Given the description of an element on the screen output the (x, y) to click on. 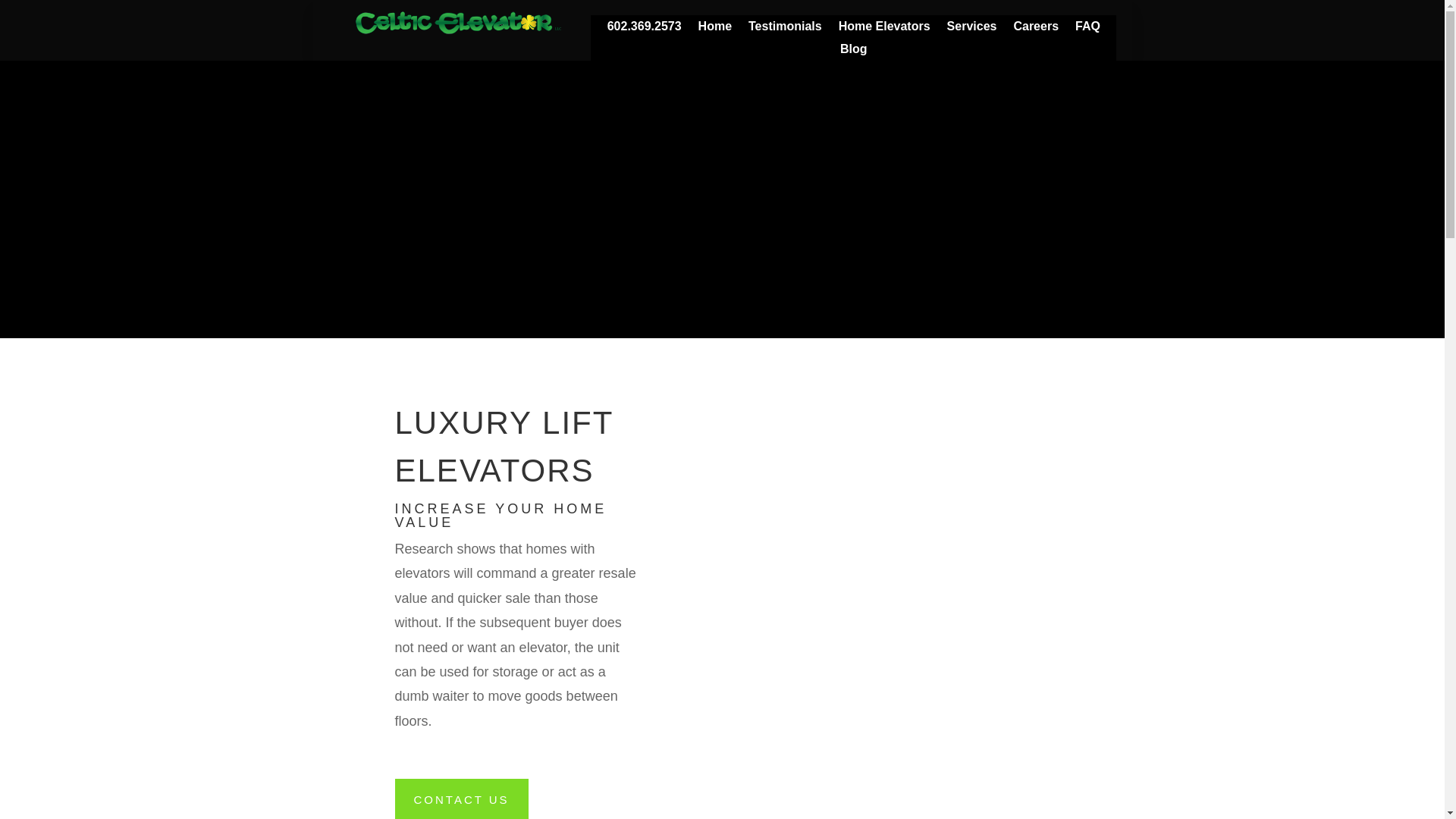
Testimonials (785, 29)
Careers (1035, 29)
Blog (853, 52)
FAQ (1087, 29)
Home Elevators (884, 29)
Services (972, 29)
Home (715, 29)
CONTACT US (460, 798)
602.369.2573 (644, 29)
